Given the description of an element on the screen output the (x, y) to click on. 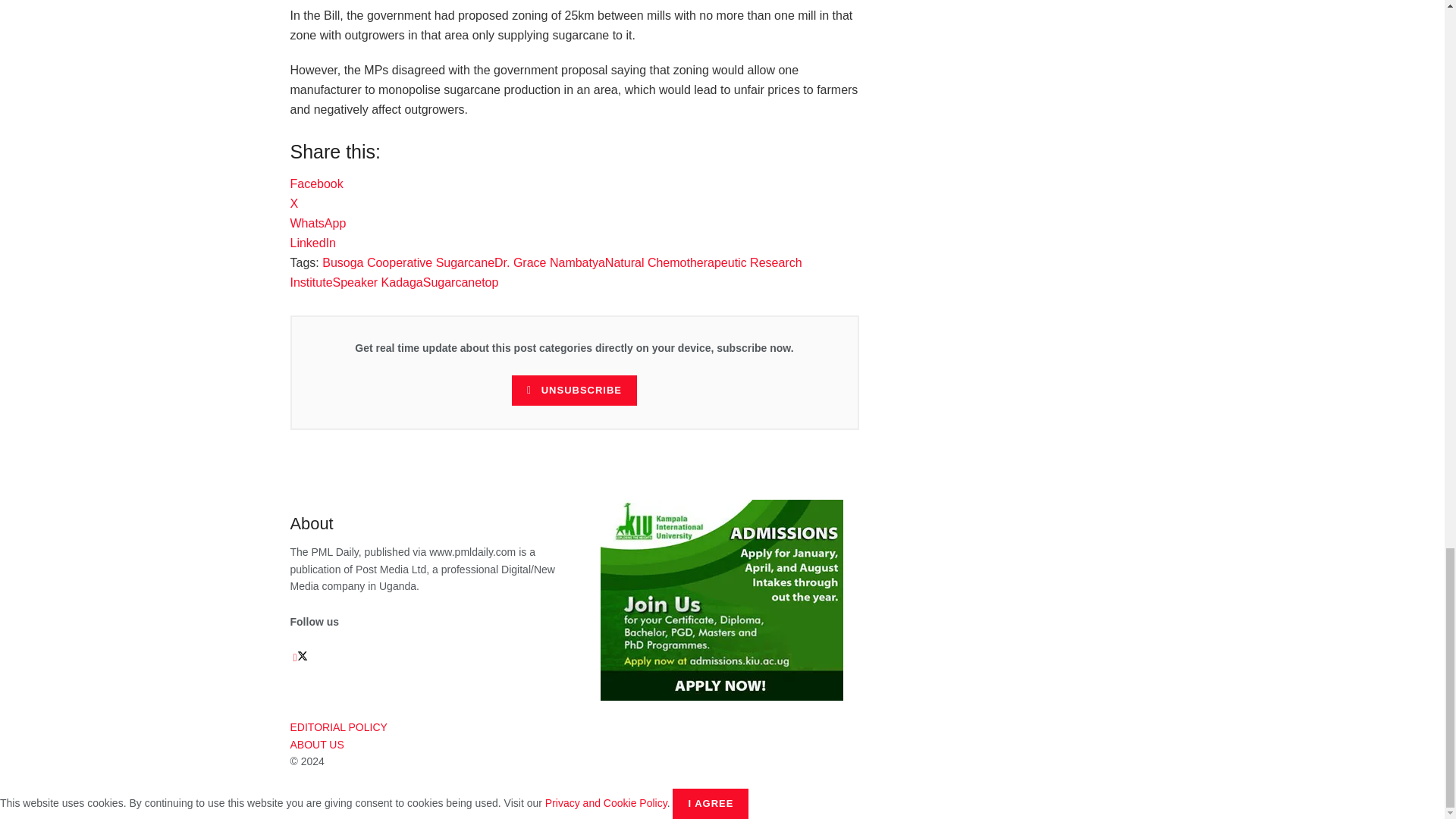
Click to share on Facebook (315, 183)
Click to share on LinkedIn (312, 242)
Click to share on WhatsApp (317, 223)
